Given the description of an element on the screen output the (x, y) to click on. 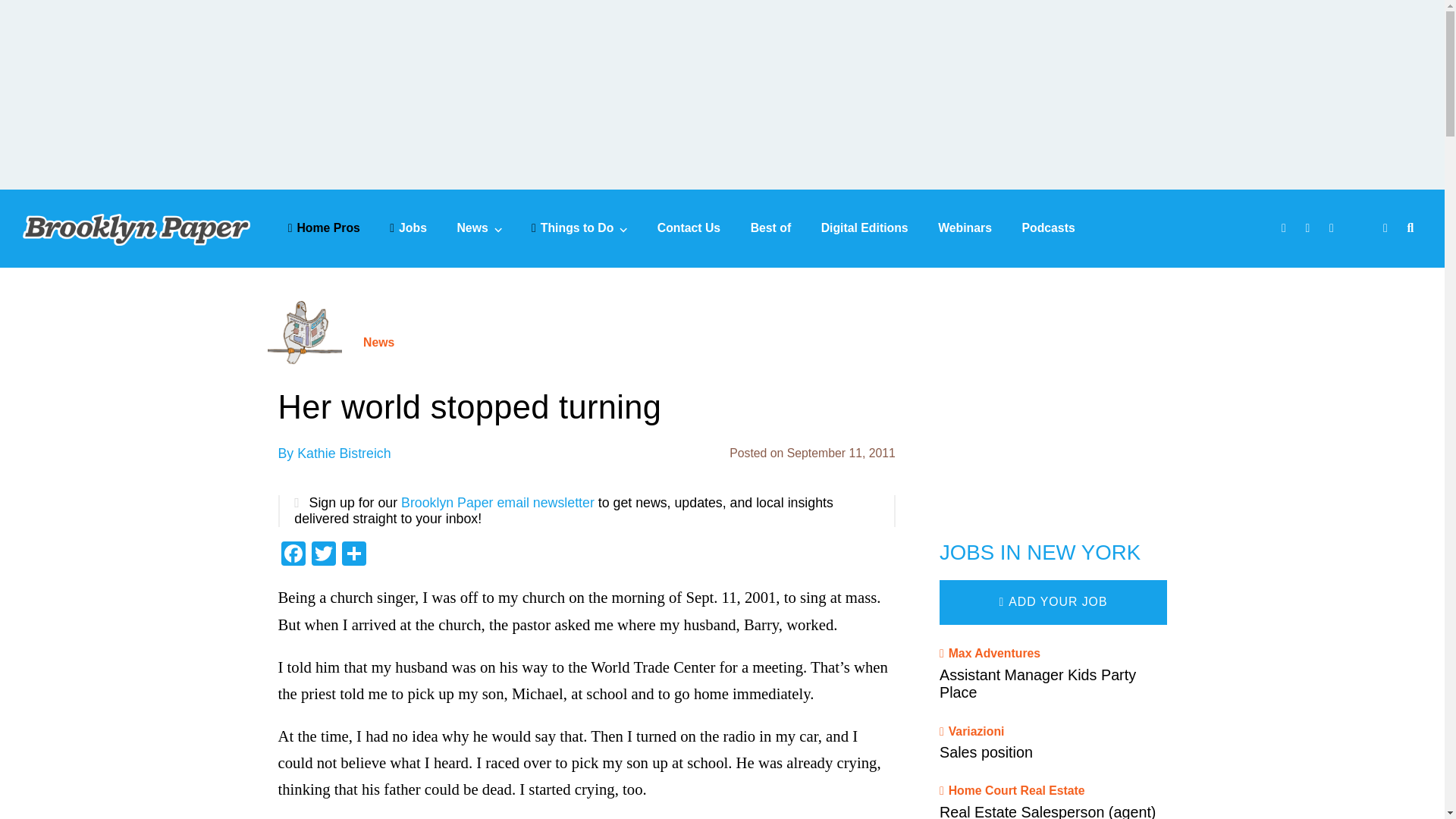
News (478, 227)
Contact Us (689, 227)
Best of (771, 227)
Webinars (964, 227)
Jobs (408, 227)
Twitter (322, 555)
Facebook (292, 555)
Podcasts (1048, 227)
Home Pros (323, 227)
Things to Do (579, 227)
